Given the description of an element on the screen output the (x, y) to click on. 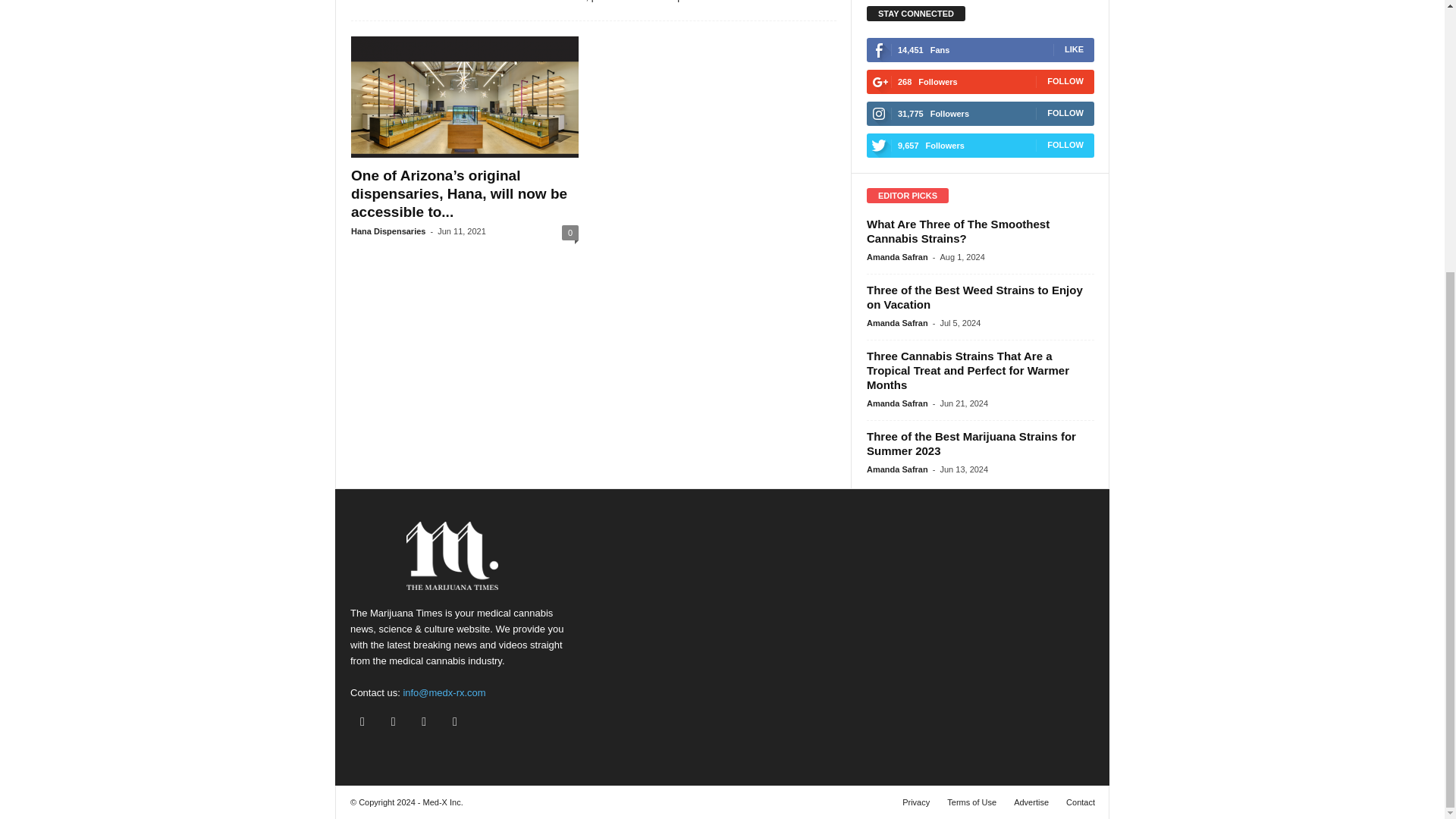
MarijuanaTimes.org (453, 555)
FOLLOW (1064, 112)
FOLLOW (1064, 80)
Three of the Best Marijuana Strains for Summer 2023 (970, 443)
FOLLOW (1064, 144)
Amanda Safran (897, 256)
What Are Three of The Smoothest Cannabis Strains? (957, 230)
Amanda Safran (897, 322)
Hana Dispensaries (387, 230)
LIKE (1073, 49)
